Given the description of an element on the screen output the (x, y) to click on. 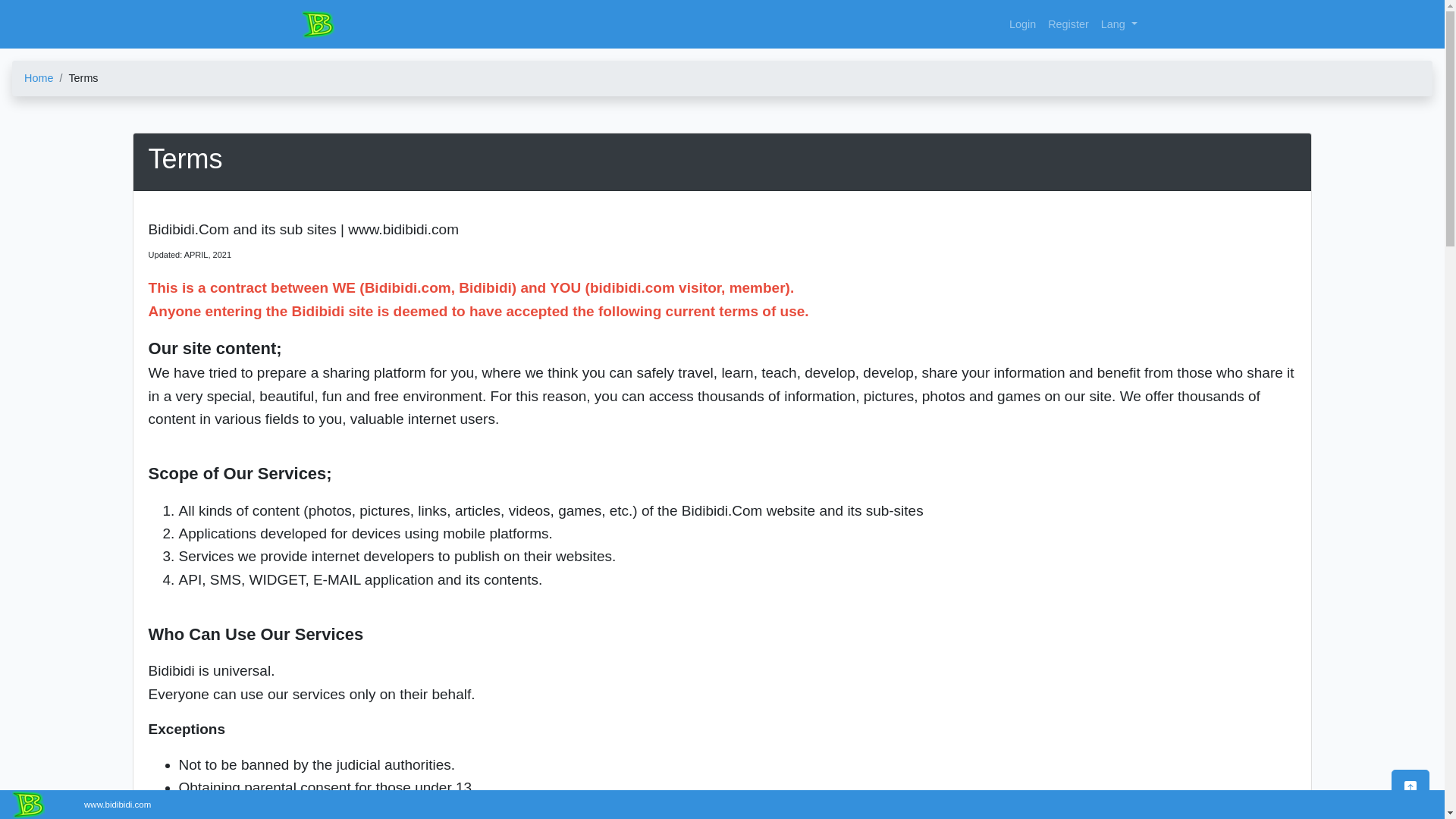
Lang (1118, 24)
Click to return on the top page (1410, 786)
Login (1022, 24)
Register (1068, 24)
Home (38, 78)
